Given the description of an element on the screen output the (x, y) to click on. 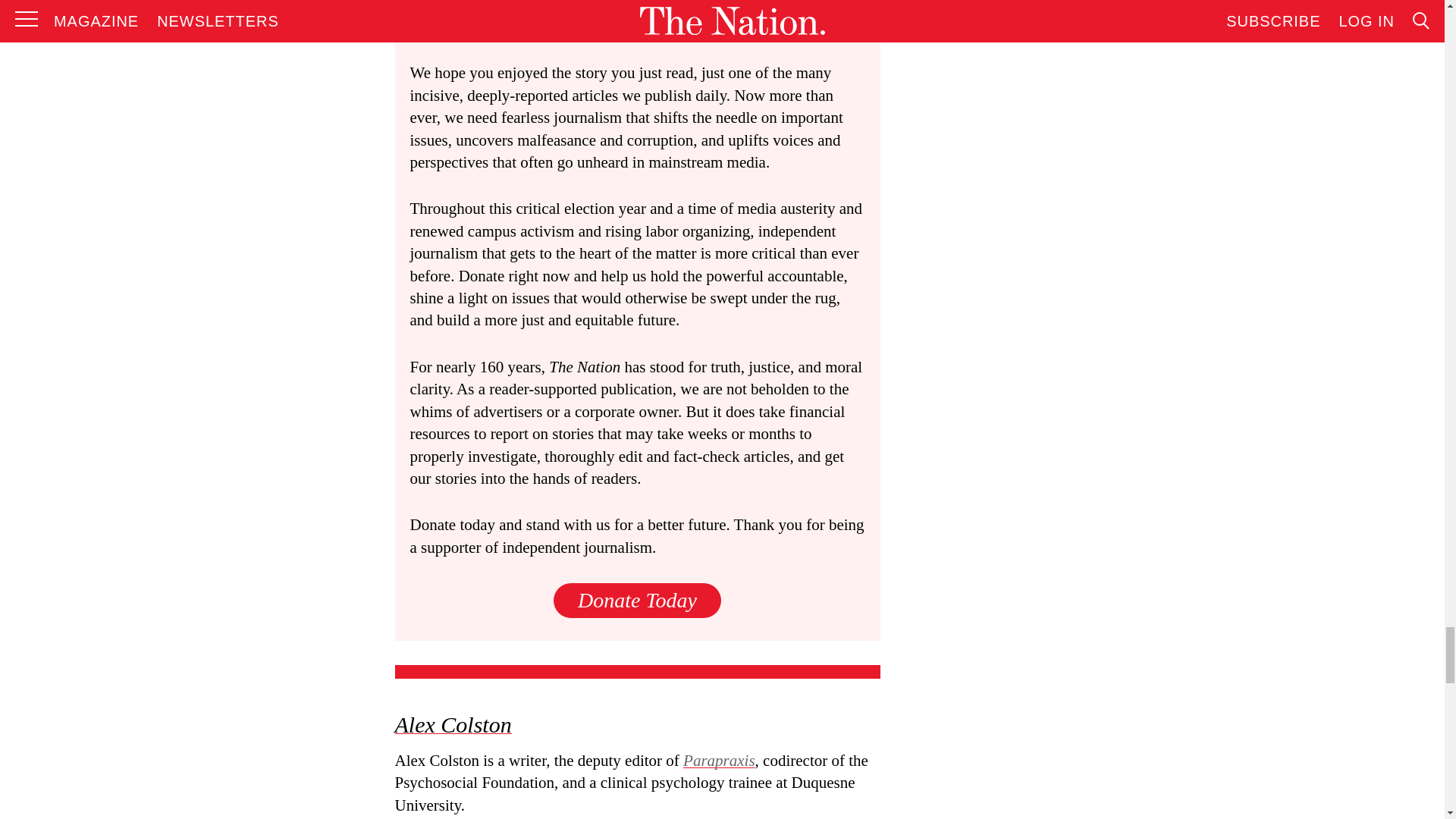
Donate Today (636, 600)
